Given the description of an element on the screen output the (x, y) to click on. 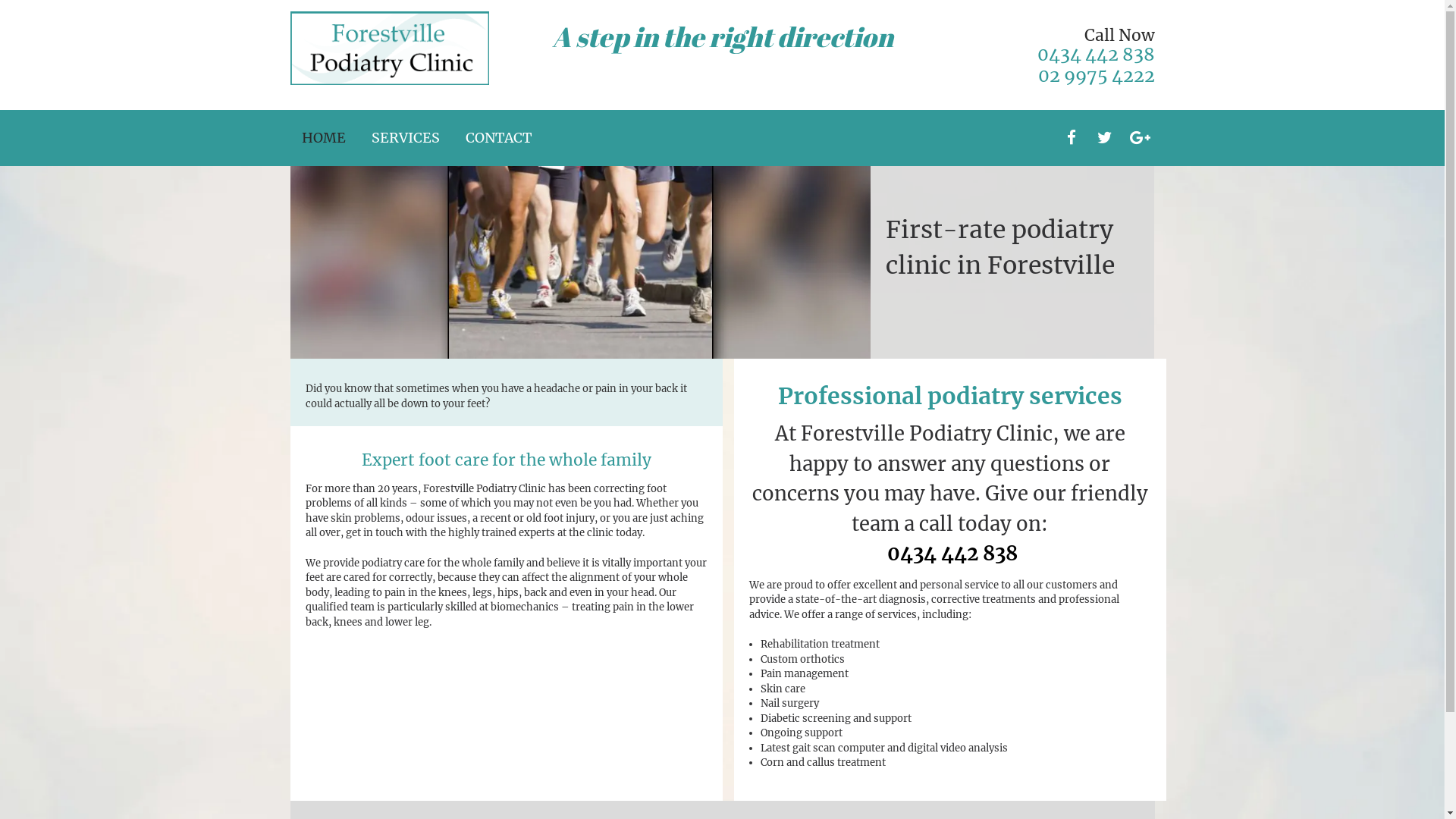
forestville podiatry clinic people running Element type: hover (579, 262)
02 9975 4222 Element type: text (1095, 75)
forestville podiatry clinic logo Element type: hover (389, 47)
HOME Element type: text (323, 137)
0 Element type: text (893, 553)
CONTACT Element type: text (498, 137)
SERVICES Element type: text (405, 137)
